Given the description of an element on the screen output the (x, y) to click on. 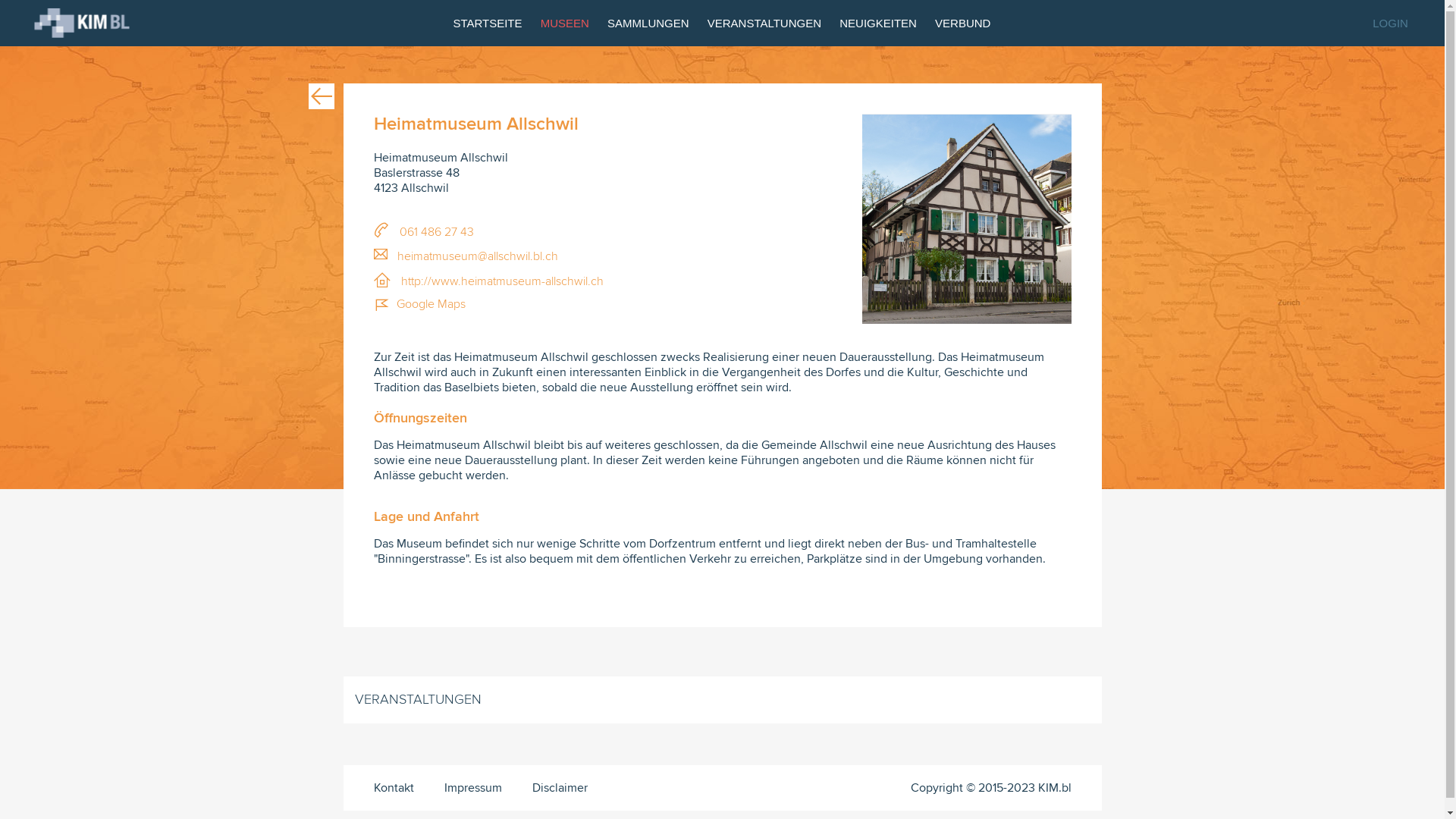
LOGIN Element type: text (1390, 23)
NEUIGKEITEN Element type: text (877, 22)
STARTSEITE Element type: text (486, 22)
061 486 27 43 Element type: text (423, 231)
Kontakt Element type: text (393, 787)
SAMMLUNGEN Element type: text (648, 22)
Disclaimer Element type: text (559, 787)
MUSEEN Element type: text (564, 22)
http://www.heimatmuseum-allschwil.ch Element type: text (487, 281)
heimatmuseum@allschwil.bl.ch Element type: text (465, 256)
Impressum Element type: text (473, 787)
VERANSTALTUNGEN Element type: text (764, 22)
VERBUND Element type: text (962, 22)
Google Maps Element type: text (418, 304)
